Given the description of an element on the screen output the (x, y) to click on. 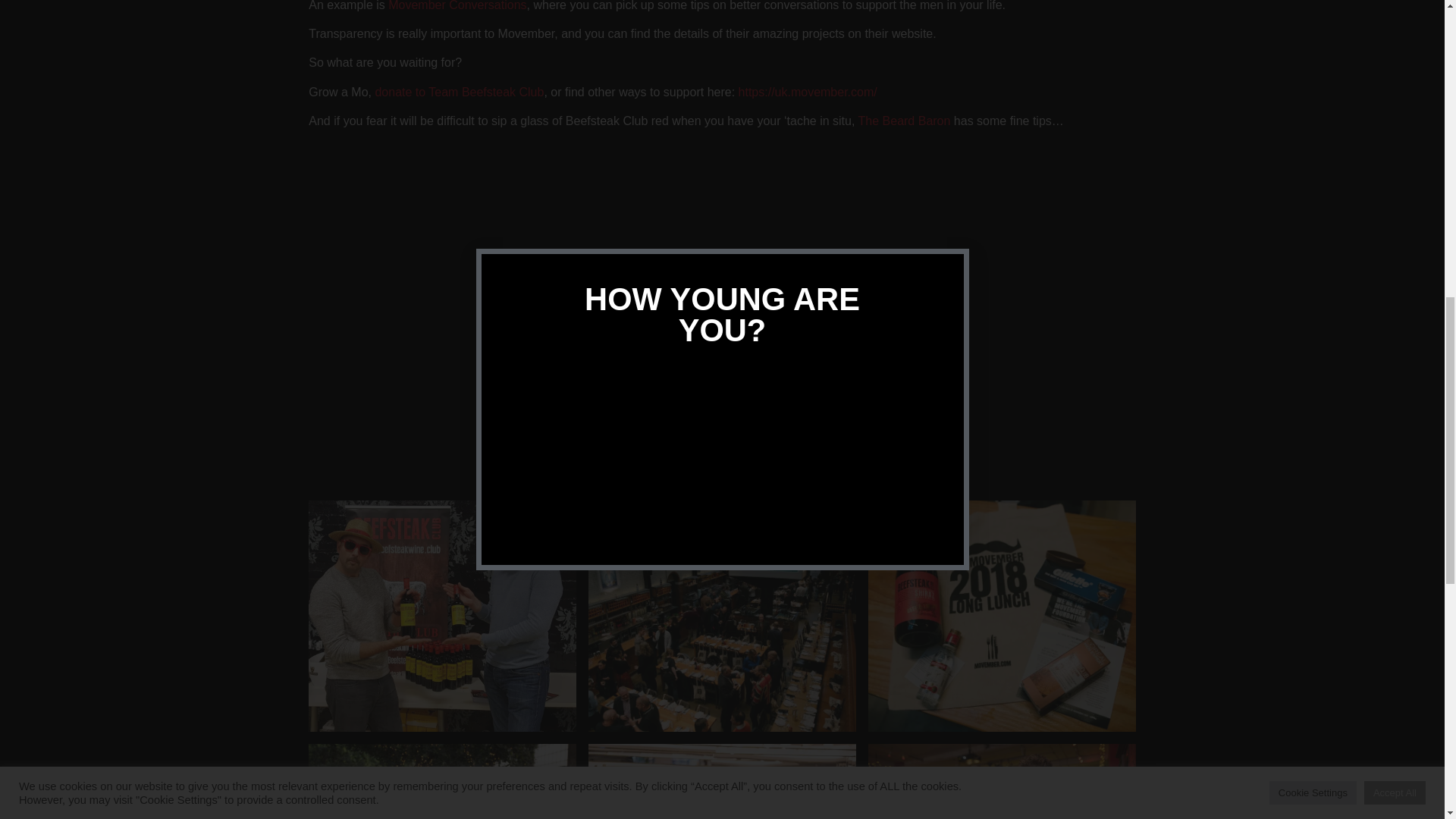
donate to Team Beefsteak Club (458, 91)
The Beard Baron (904, 120)
Movember Conversations (456, 5)
